Given the description of an element on the screen output the (x, y) to click on. 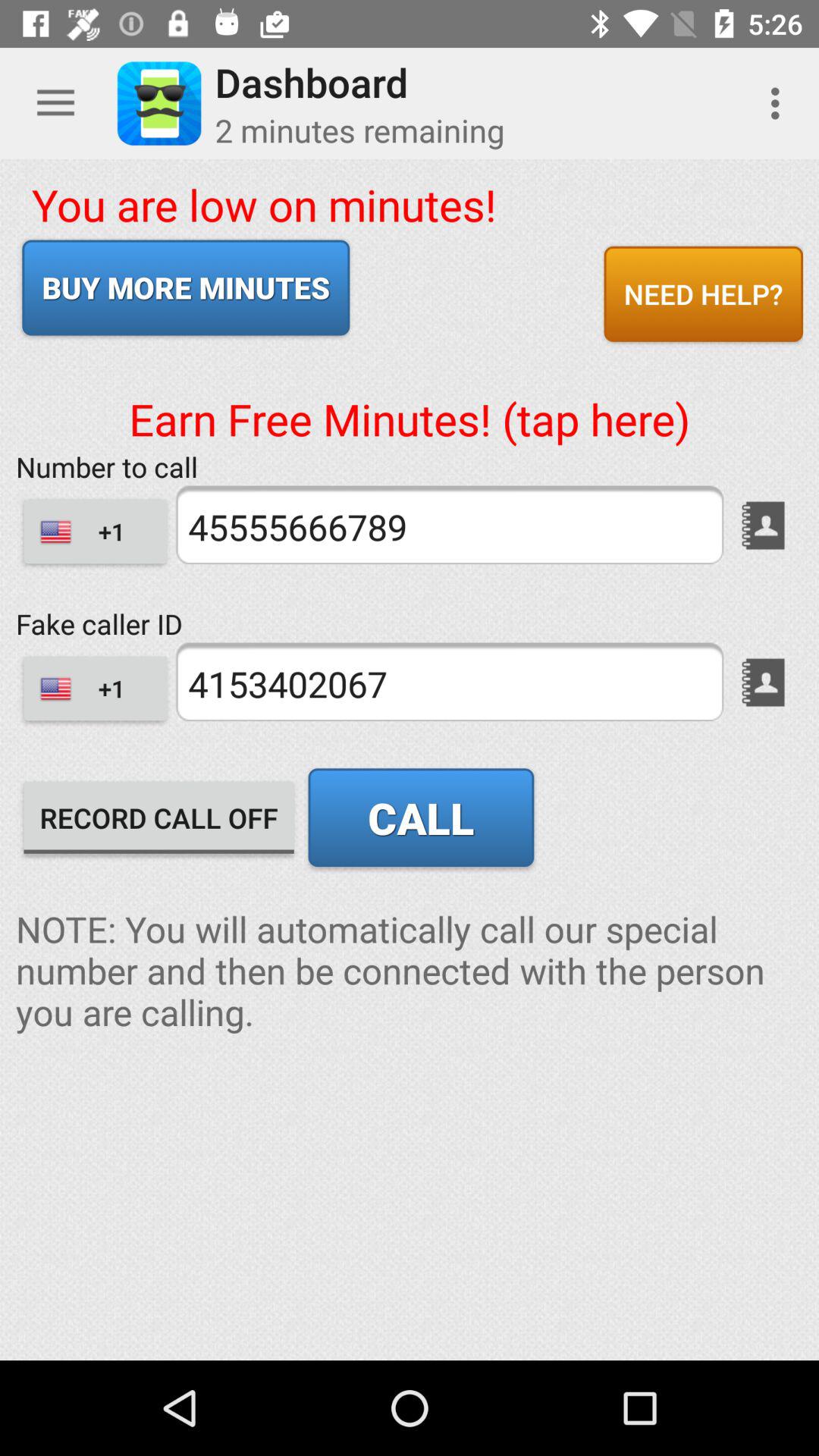
open item to the right of the you are low icon (703, 293)
